Given the description of an element on the screen output the (x, y) to click on. 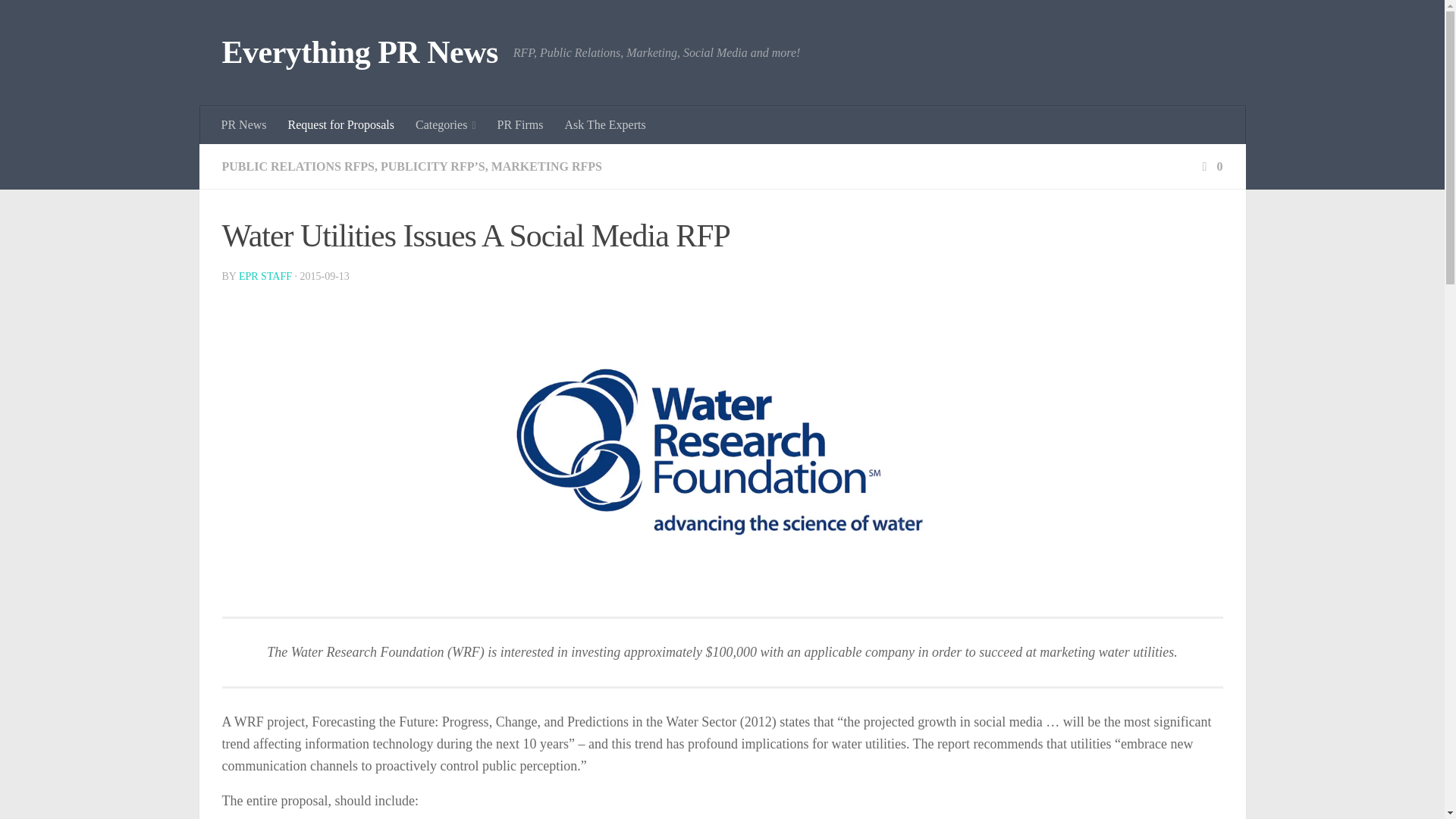
Categories (445, 125)
Posts by EPR Staff (265, 276)
PR News (244, 125)
Request for Proposals (341, 125)
Everything PR News (359, 53)
Water Research Foundation everything-pr (722, 451)
Skip to content (59, 20)
